Given the description of an element on the screen output the (x, y) to click on. 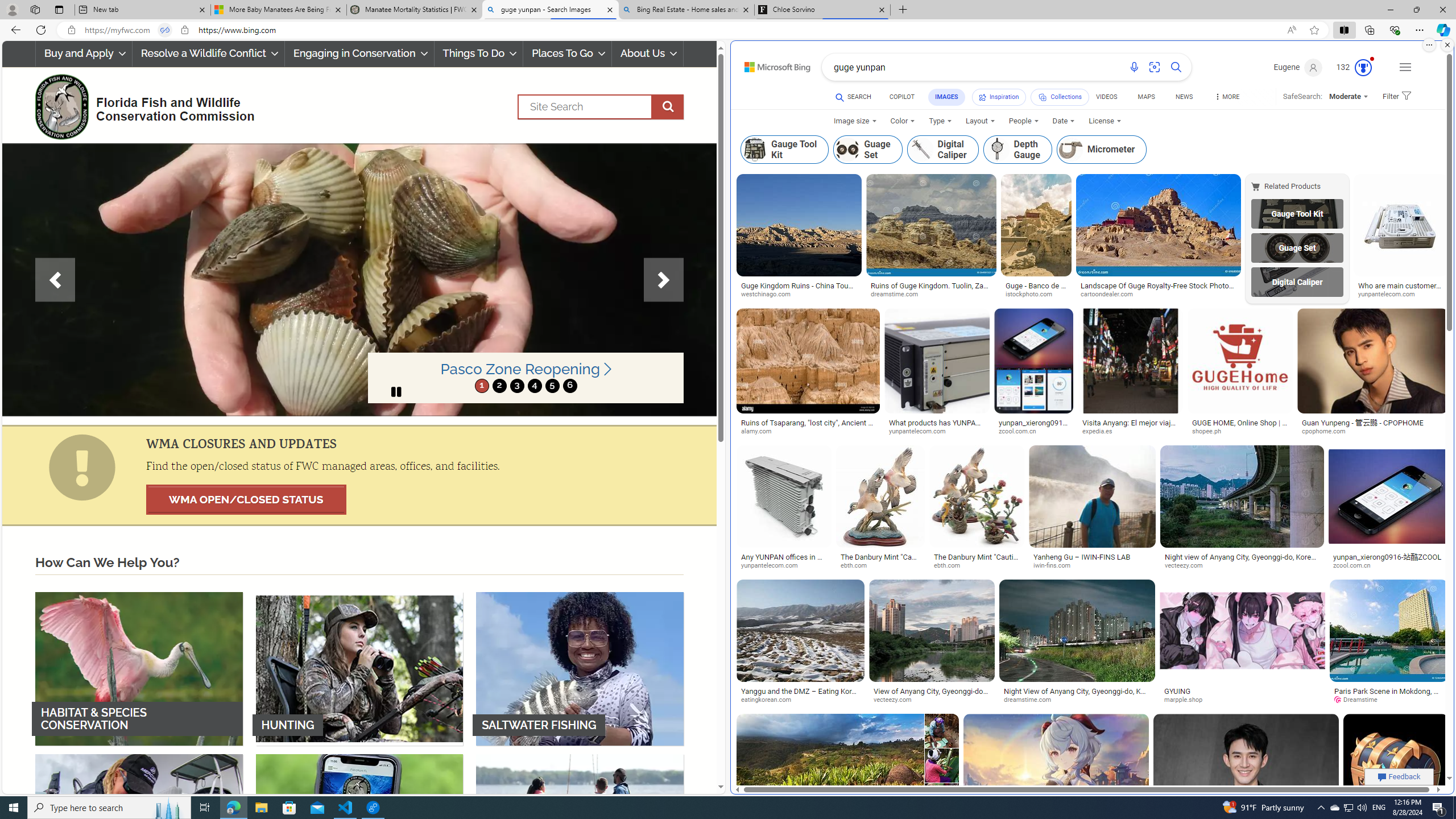
People (1023, 121)
eatingkorean.com (770, 699)
move to slide 1 (481, 385)
MORE (1226, 98)
IMAGES (946, 96)
yunpantelecom.com (773, 565)
iwin-fins.com (1092, 565)
execute site search (667, 106)
